Given the description of an element on the screen output the (x, y) to click on. 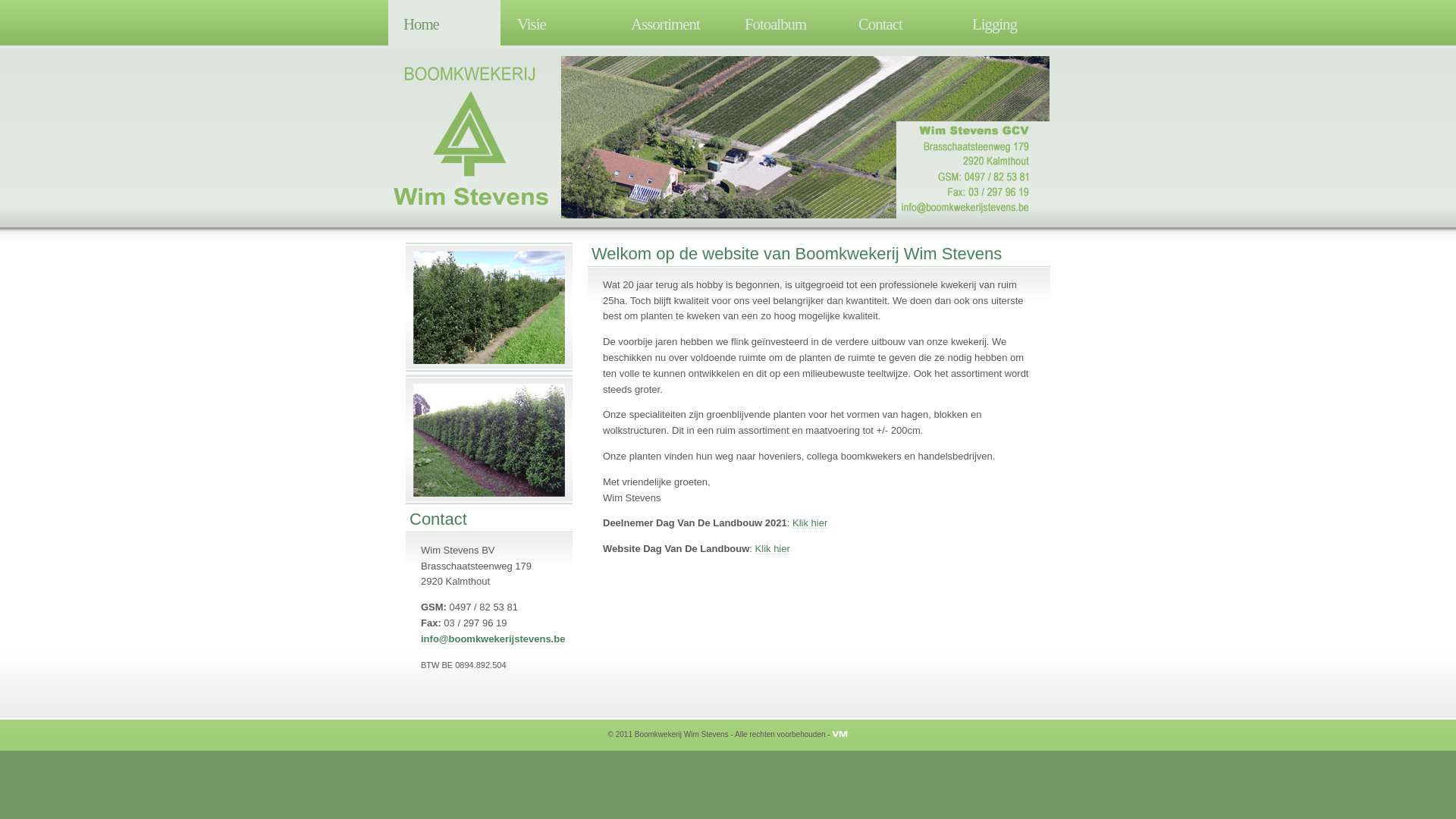
Prunus lusitanica 'Angustifolia' Element type: hover (488, 441)
Ligging Element type: text (1013, 21)
Home Element type: text (444, 22)
VM Webdesign Element type: hover (839, 734)
Ilex Aquifolium Element type: hover (488, 308)
Klik hier Element type: text (809, 522)
Fotoalbum Element type: text (785, 21)
Assortiment Element type: text (671, 21)
Klik hier Element type: text (772, 548)
Contact Element type: text (899, 21)
VM Webdesign Element type: hover (839, 734)
Visie Element type: text (558, 21)
Boomkwekerij Wim Stevens Element type: hover (471, 136)
info@boomkwekerijstevens.be Element type: text (492, 638)
